Given the description of an element on the screen output the (x, y) to click on. 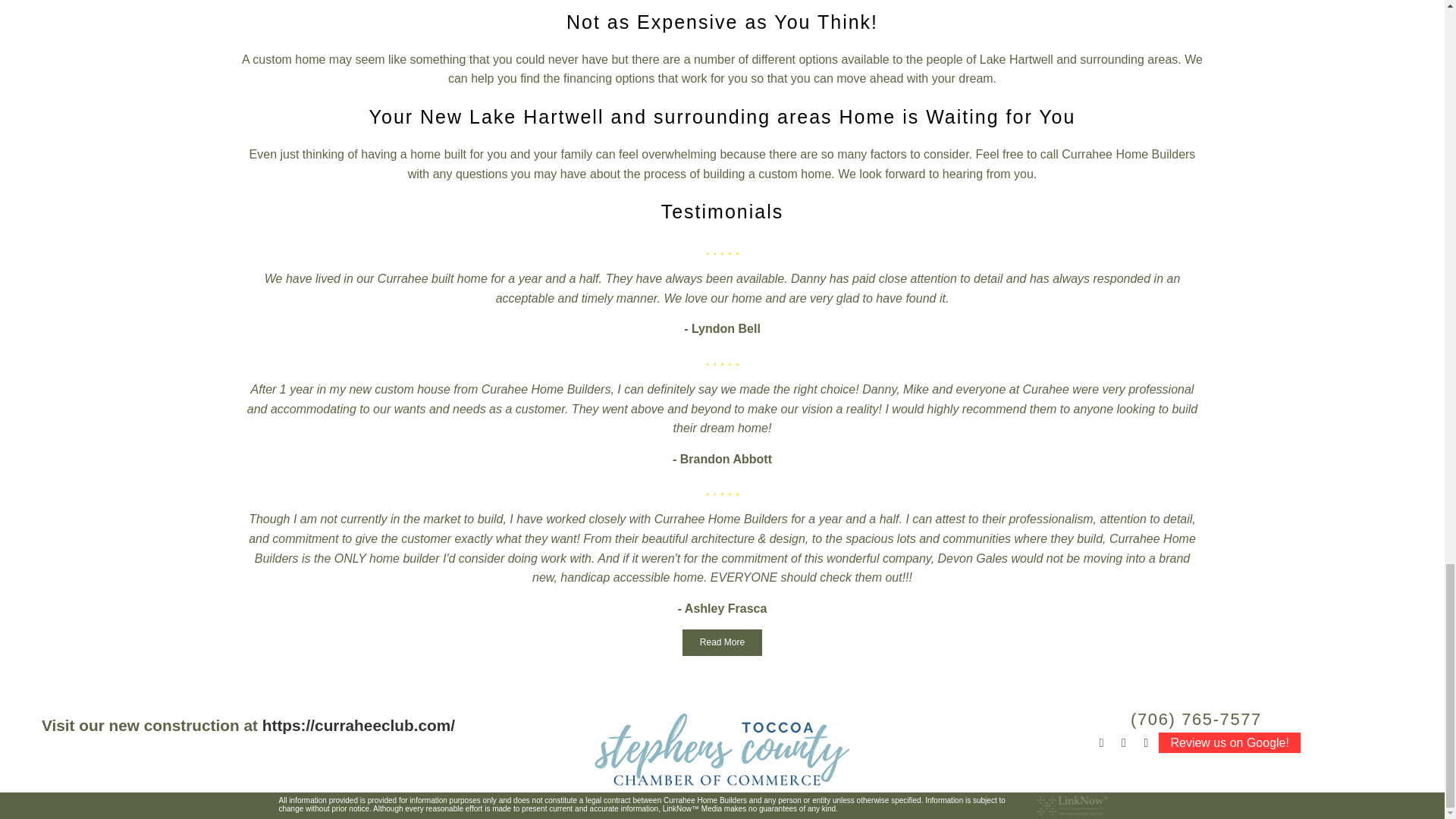
Read More (721, 642)
